Given the description of an element on the screen output the (x, y) to click on. 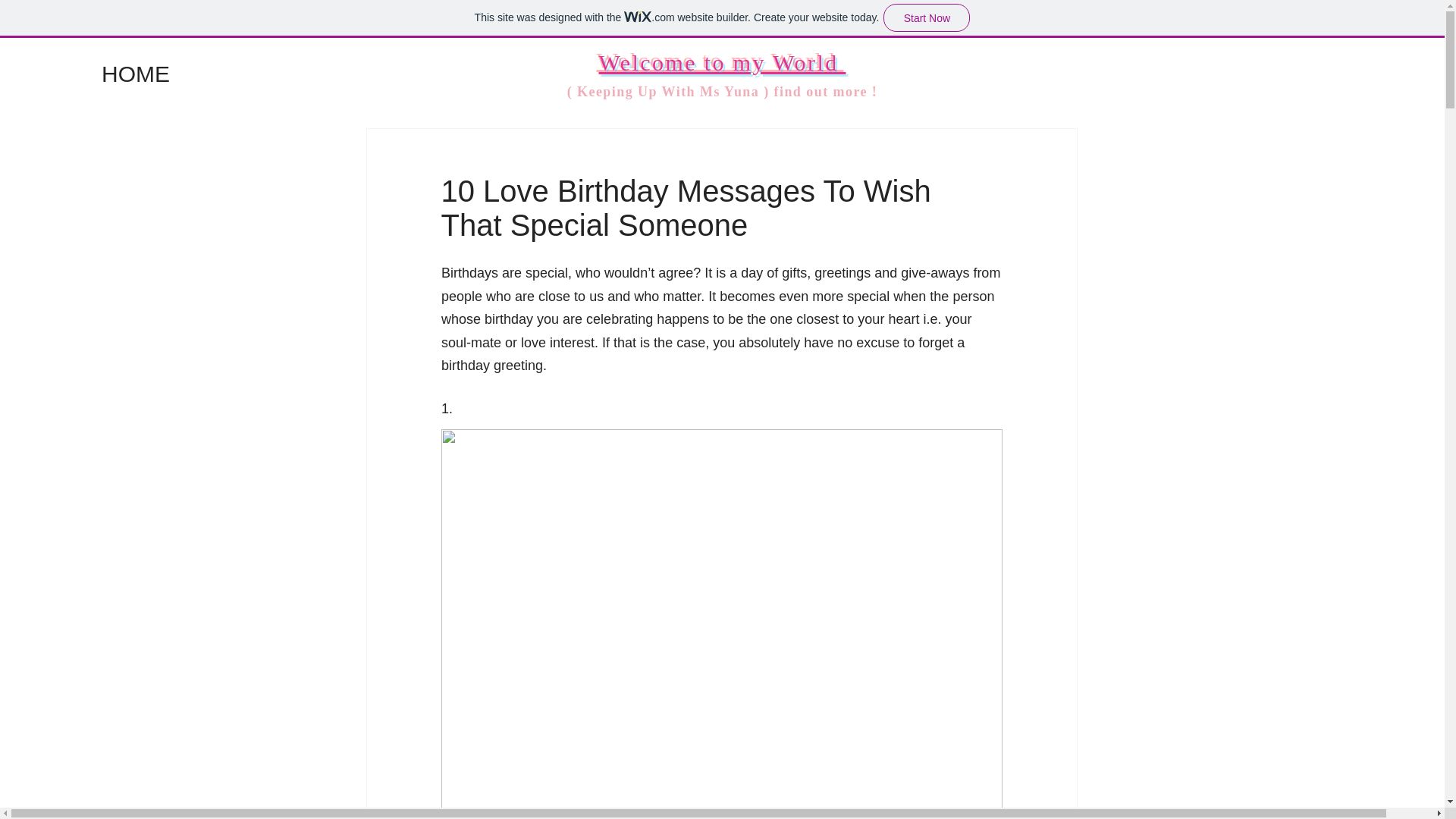
HOME (145, 73)
